Given the description of an element on the screen output the (x, y) to click on. 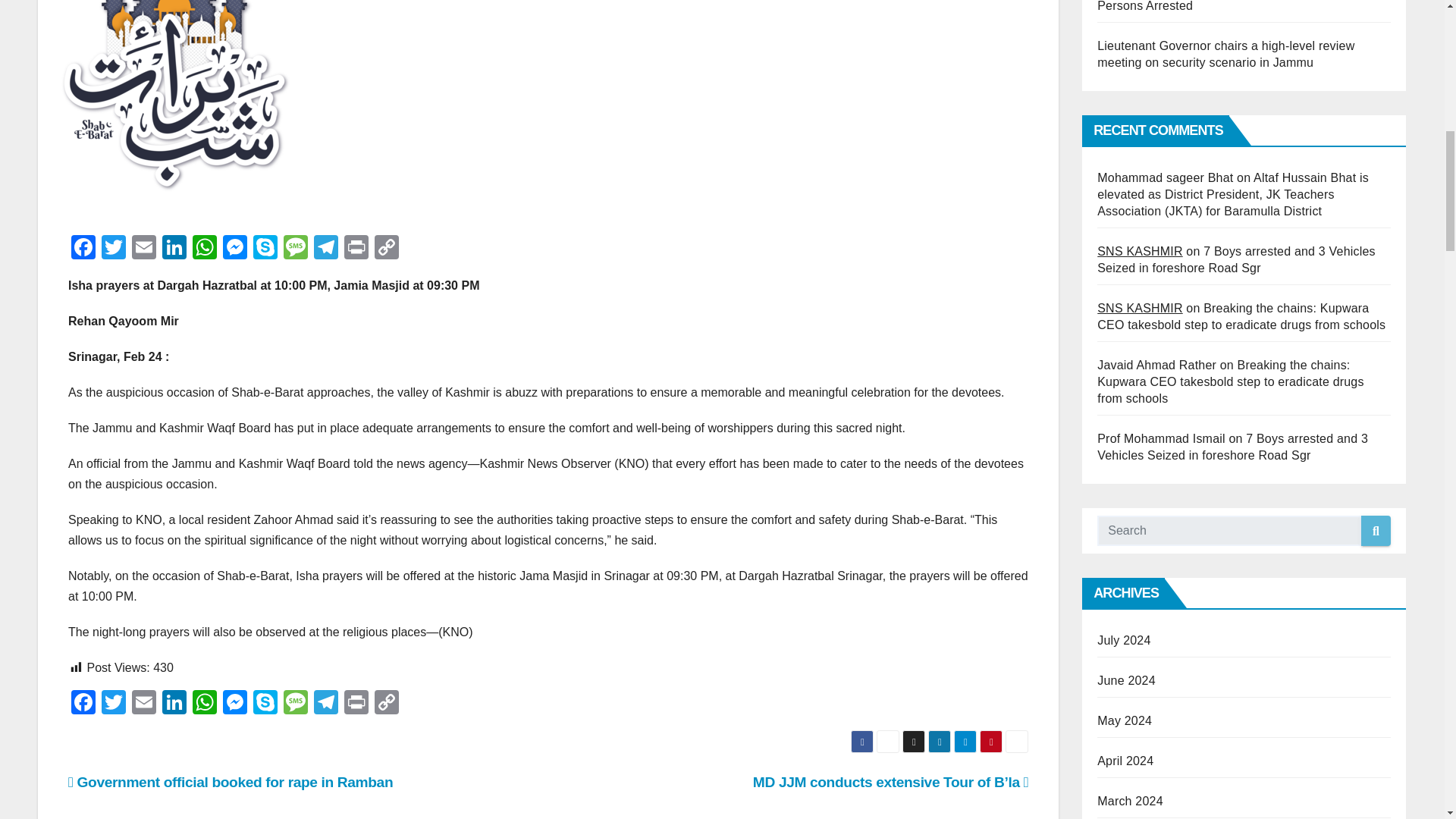
Print (355, 248)
Copy Link (386, 248)
Message (296, 248)
Twitter (114, 248)
Skype (265, 248)
Telegram (325, 248)
Twitter (114, 704)
Email (143, 248)
LinkedIn (173, 248)
Facebook (83, 704)
Messenger (234, 248)
WhatsApp (204, 248)
Email (143, 704)
Facebook (83, 248)
